Given the description of an element on the screen output the (x, y) to click on. 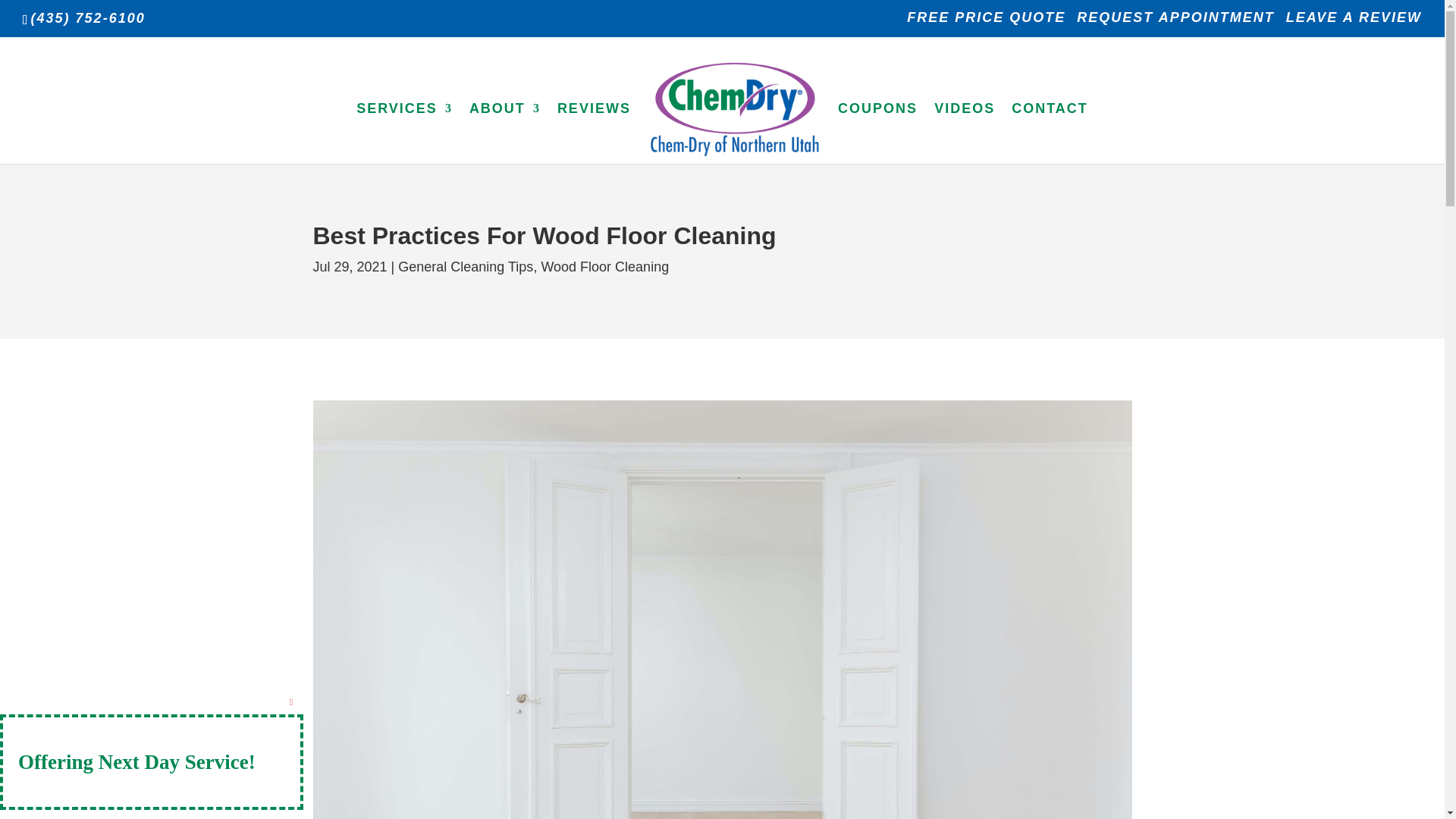
Accessibility Tools (19, 95)
REVIEWS (593, 132)
ABOUT (504, 132)
Accessibility Tools (19, 95)
Customer Reviews (593, 132)
SERVICES (404, 132)
Accessibility Tools (19, 95)
FREE PRICE QUOTE (986, 22)
Contact Us (1049, 132)
LEAVE A REVIEW (1353, 22)
COUPONS (877, 132)
Carpet Cleaning Coupons (877, 132)
REQUEST APPOINTMENT (1175, 22)
VIDEOS (964, 132)
